Given the description of an element on the screen output the (x, y) to click on. 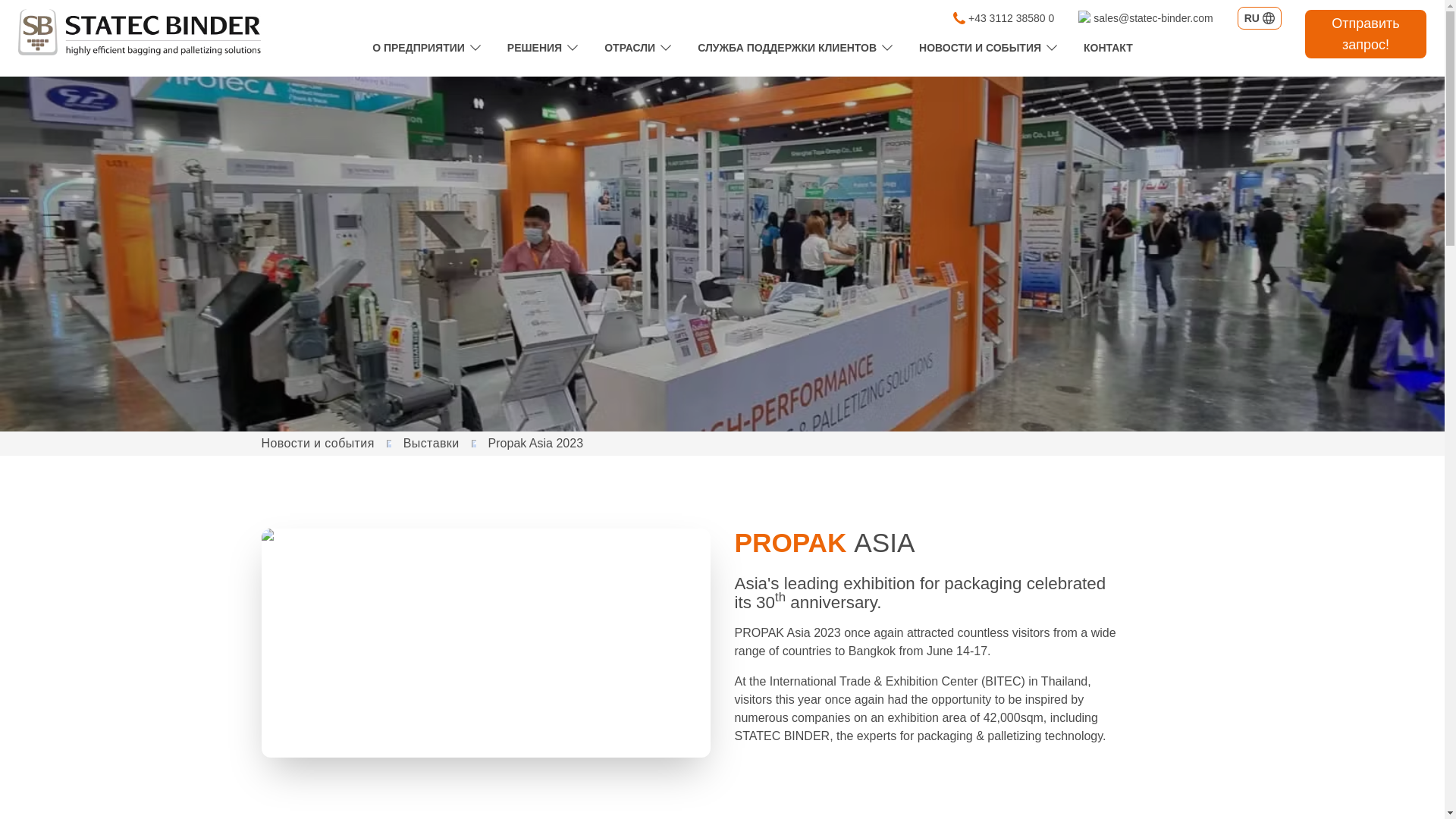
Statec Binder logo (138, 32)
RU (1259, 16)
Propak Asia 2023 Besucher (485, 642)
